Given the description of an element on the screen output the (x, y) to click on. 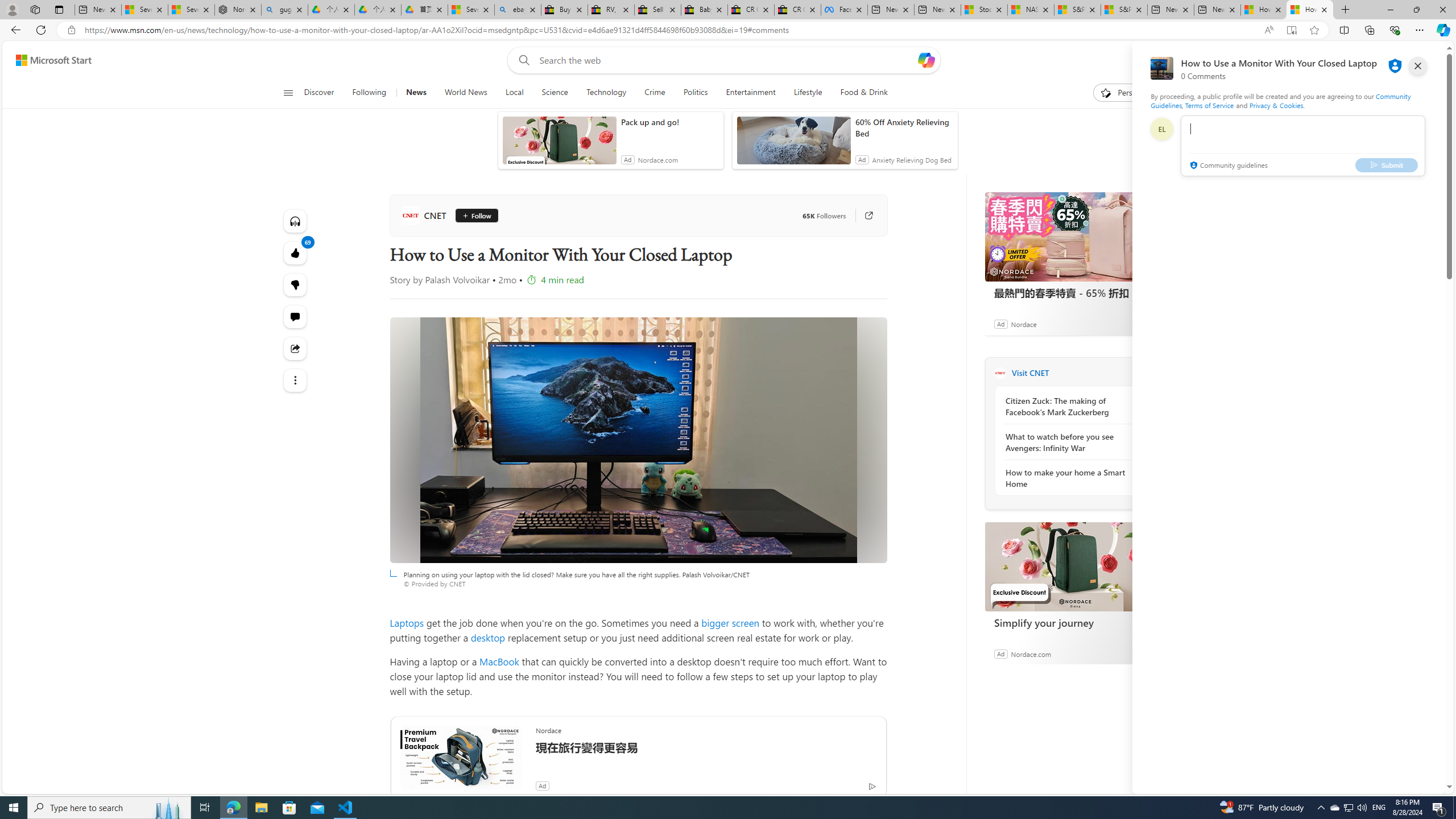
MacBook (499, 661)
60% Off Anxiety Relieving Bed (903, 127)
anim-content (793, 144)
Web search (520, 60)
Enter Immersive Reader (F9) (1291, 29)
Laptops (406, 622)
